Given the description of an element on the screen output the (x, y) to click on. 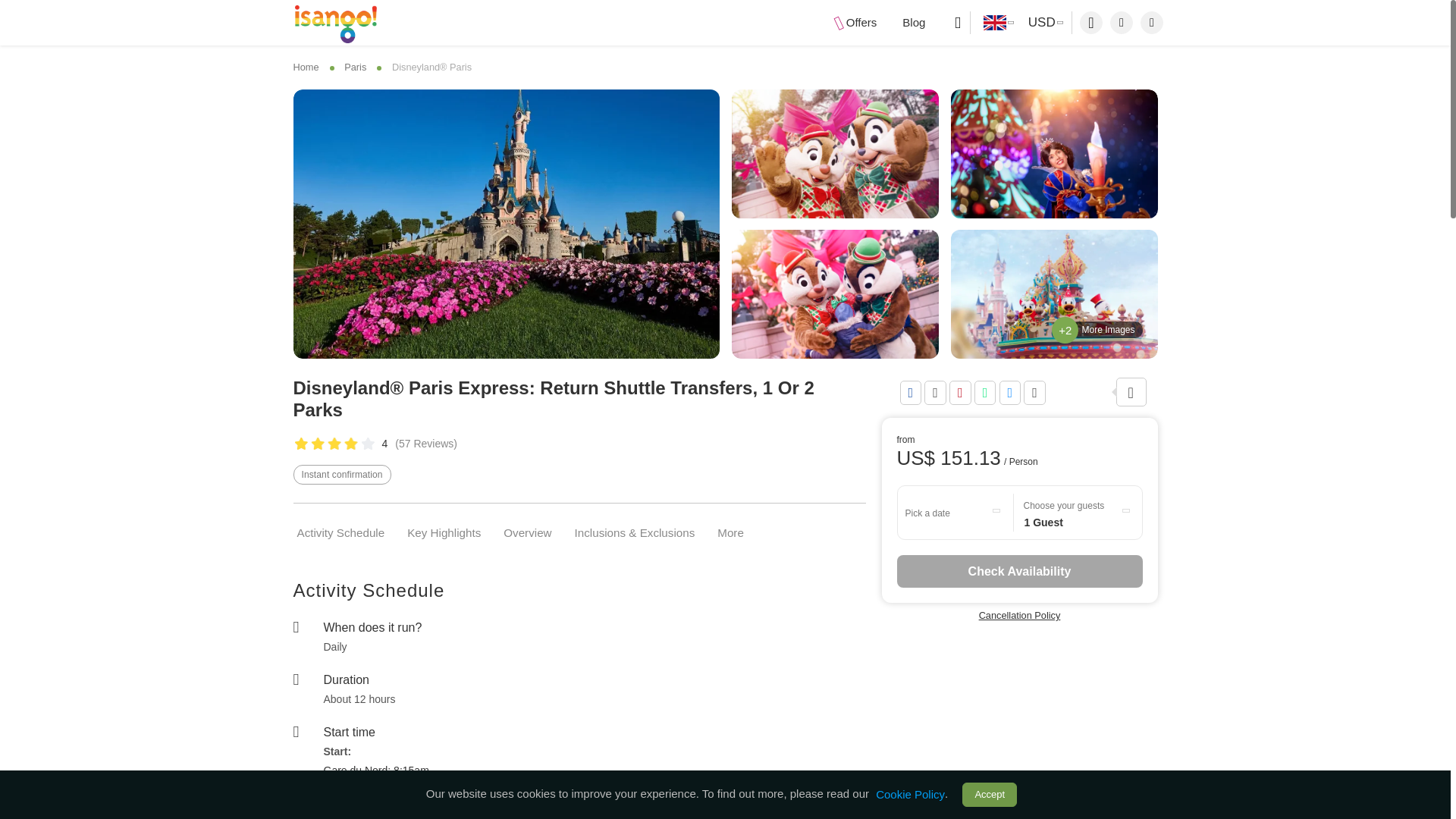
Home (309, 66)
Blog (913, 22)
Paris (355, 66)
Offers (856, 22)
USD (1043, 22)
